Given the description of an element on the screen output the (x, y) to click on. 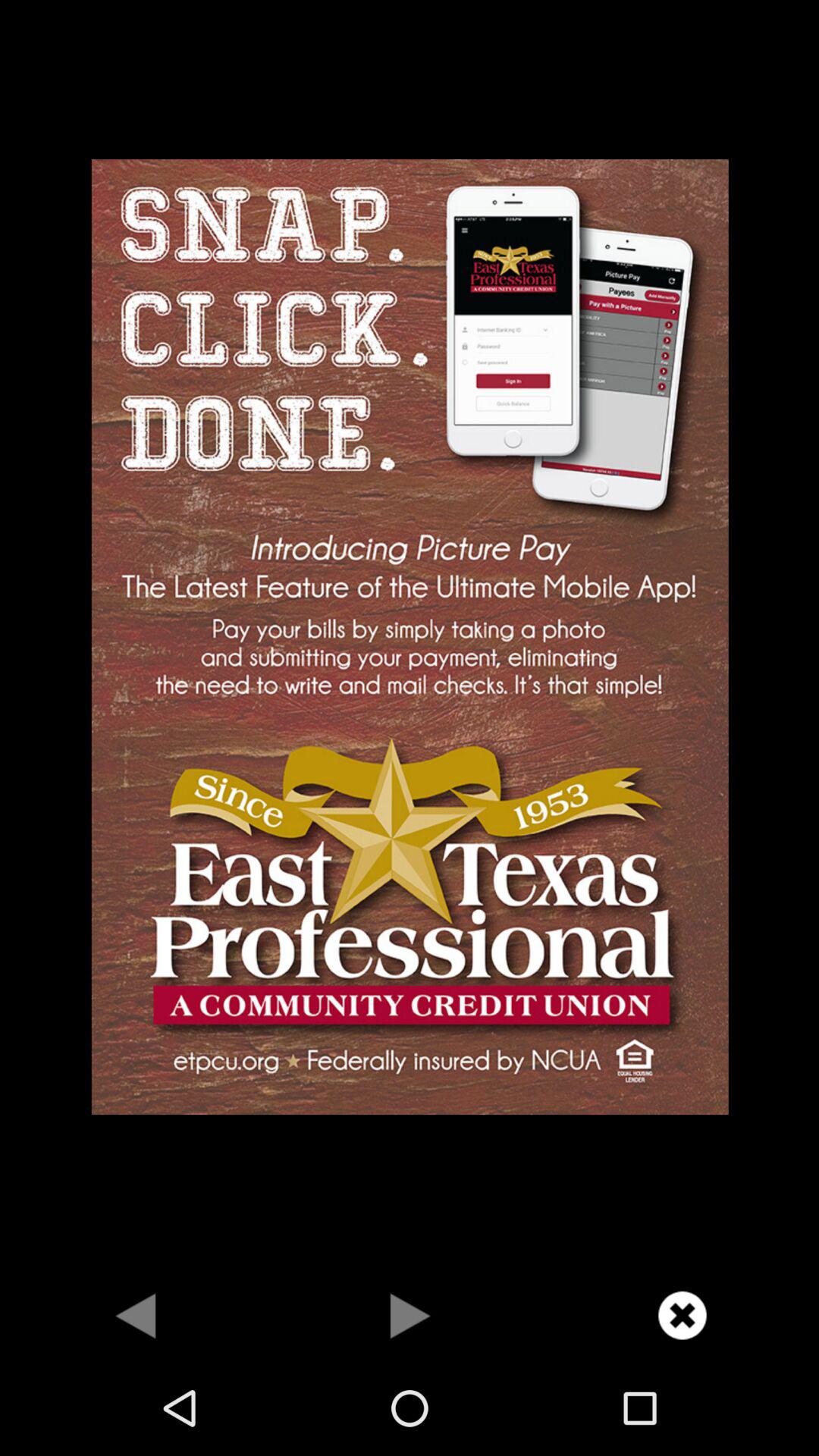
back to previous page (136, 1315)
